Given the description of an element on the screen output the (x, y) to click on. 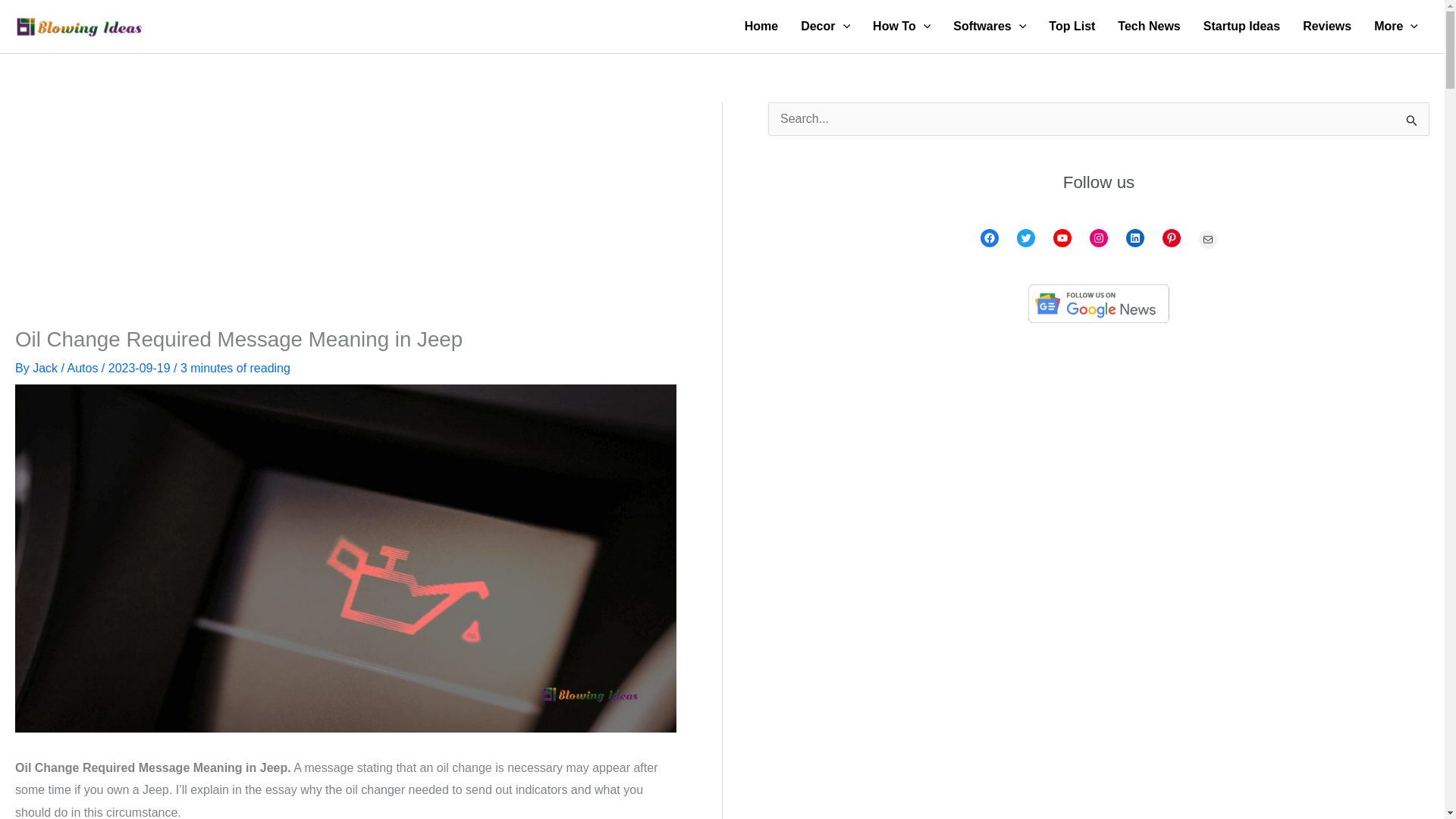
Tech News (1148, 26)
Startup Ideas (1241, 26)
Decor (825, 26)
View all posts by Jack (46, 367)
Home (761, 26)
Reviews (1326, 26)
How To (901, 26)
Top List (1071, 26)
Advertisement (344, 214)
Softwares (989, 26)
